Given the description of an element on the screen output the (x, y) to click on. 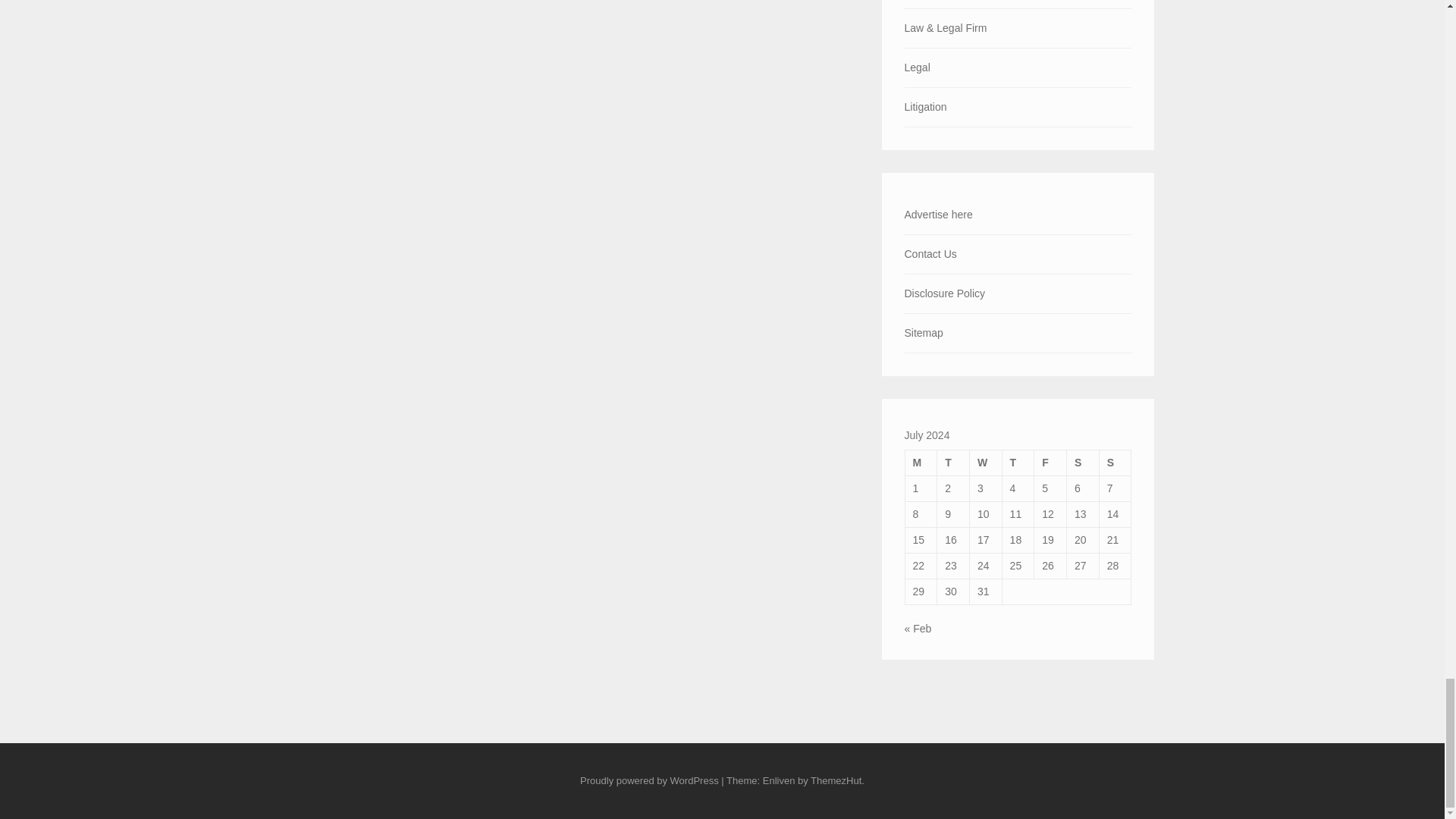
Sunday (1115, 462)
Wednesday (985, 462)
Saturday (1083, 462)
Tuesday (953, 462)
Friday (1050, 462)
Thursday (1017, 462)
Monday (920, 462)
